Given the description of an element on the screen output the (x, y) to click on. 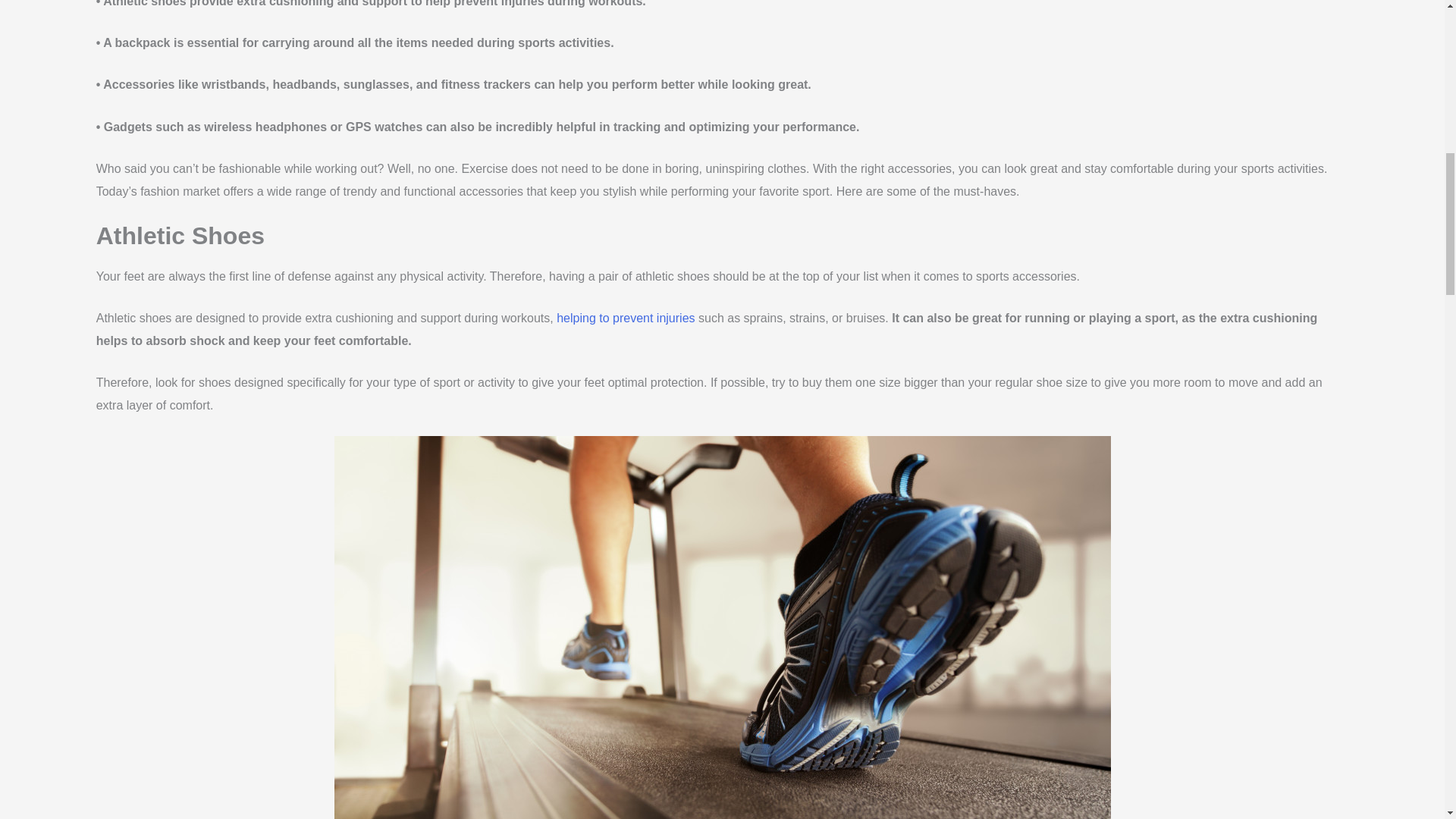
helping to prevent injuries (625, 318)
